Given the description of an element on the screen output the (x, y) to click on. 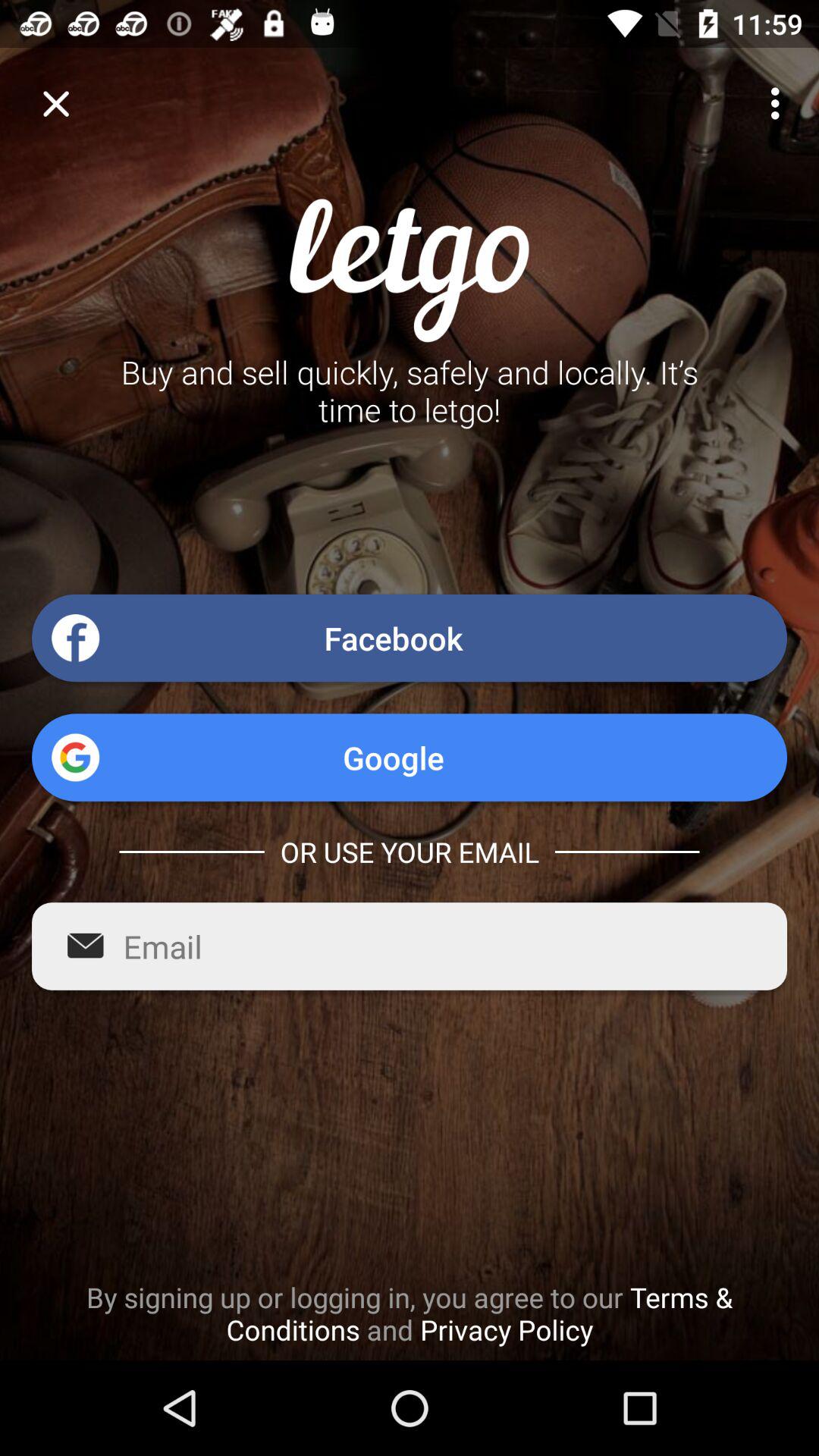
turn off the icon at the top left corner (55, 103)
